Given the description of an element on the screen output the (x, y) to click on. 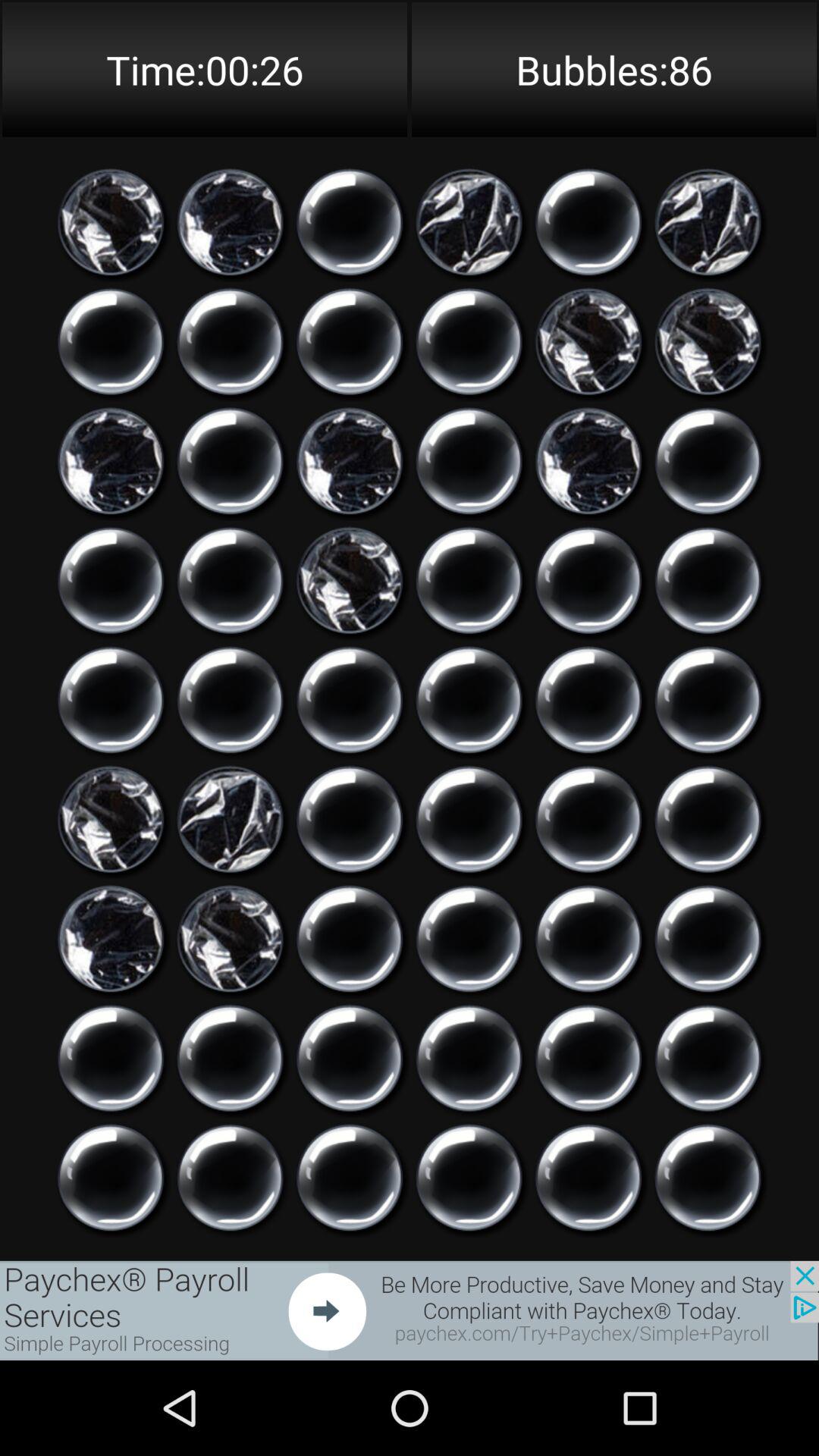
click bubbles (707, 699)
